Given the description of an element on the screen output the (x, y) to click on. 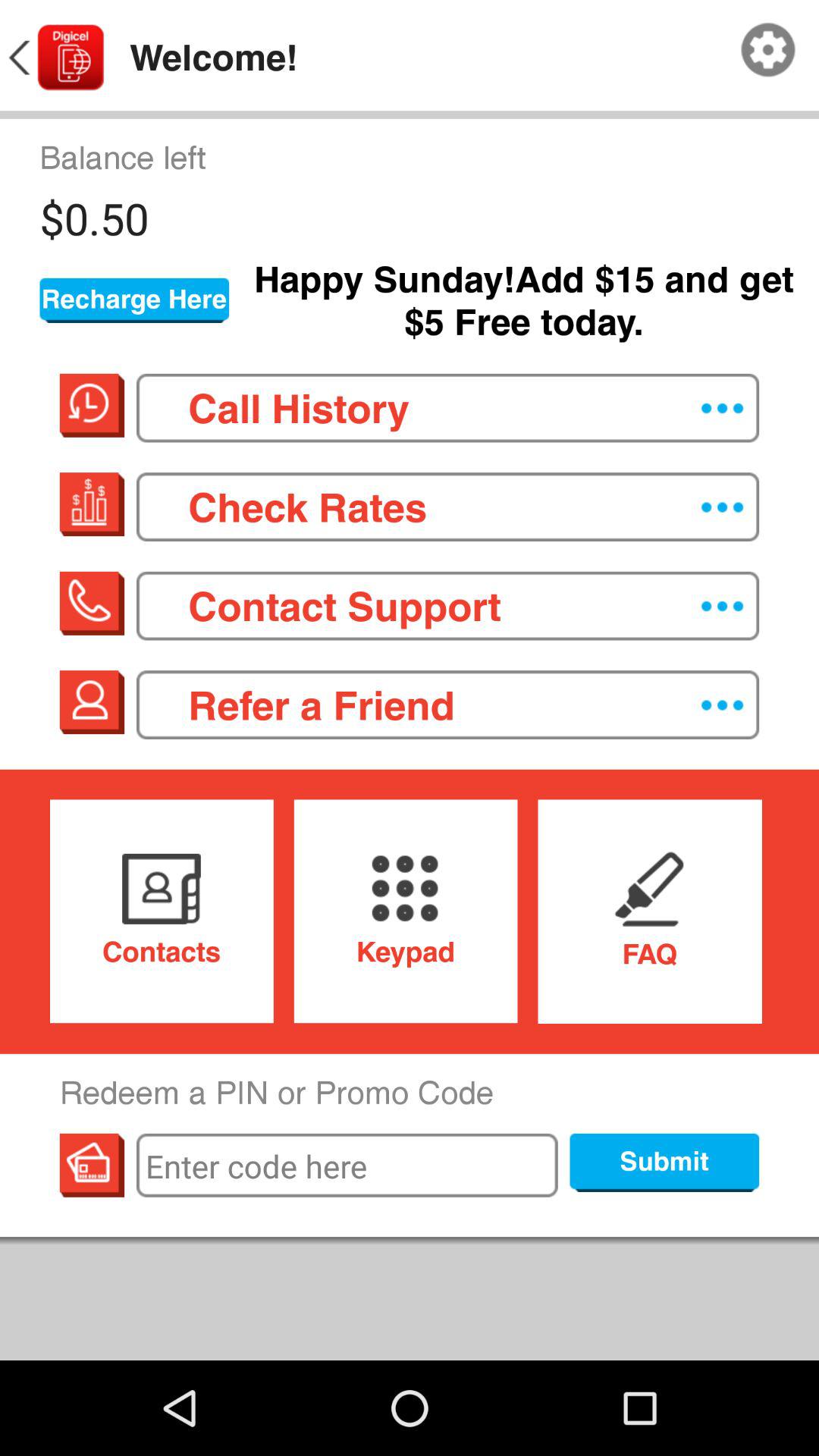
flip until contact support (447, 605)
